Given the description of an element on the screen output the (x, y) to click on. 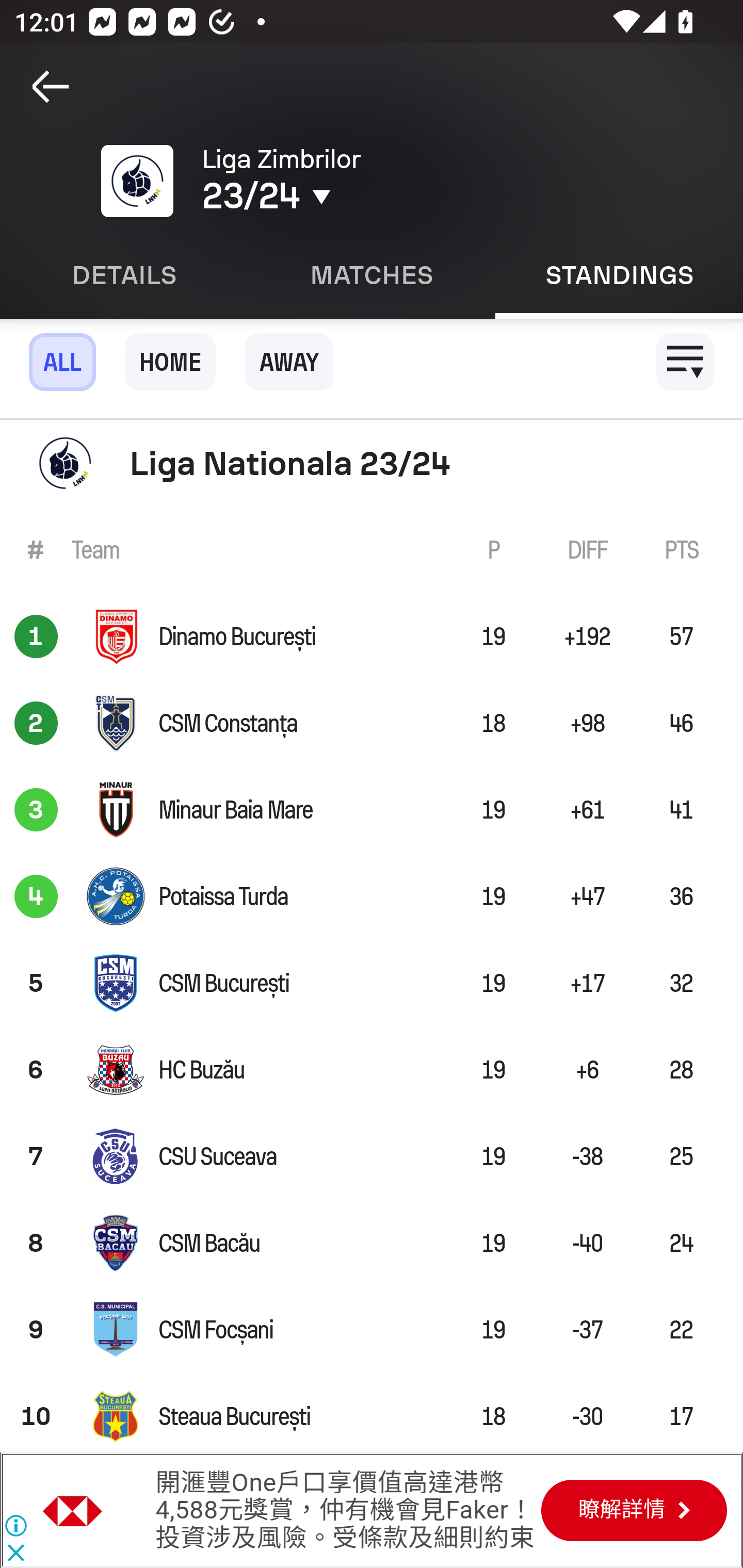
Navigate up (50, 86)
23/24 (350, 195)
Details DETAILS (123, 275)
Matches MATCHES (371, 275)
ALL (62, 362)
HOME (170, 362)
AWAY (288, 362)
Liga Nationala 23/24 (371, 463)
# Team P DIFF PTS (371, 549)
1 Dinamo București 19 +192 57 (371, 636)
1 (36, 636)
2 CSM Constanța  18 +98 46 (371, 723)
2 (36, 723)
3 Minaur Baia Mare 19 +61 41 (371, 809)
3 (36, 809)
4 Potaissa Turda 19 +47 36 (371, 895)
4 (36, 895)
5 CSM București 19 +17 32 (371, 983)
5 (36, 983)
6 HC Buzău 19 +6 28 (371, 1070)
6 (36, 1070)
7 CSU Suceava 19 -38 25 (371, 1156)
7 (36, 1156)
8 CSM Bacău 19 -40 24 (371, 1242)
8 (36, 1242)
9 CSM Focșani 19 -37 22 (371, 1329)
9 (36, 1329)
10 Steaua București 18 -30 17 (371, 1412)
10 (36, 1412)
滙豐 (73, 1510)
瞭解詳情 (634, 1509)
